Given the description of an element on the screen output the (x, y) to click on. 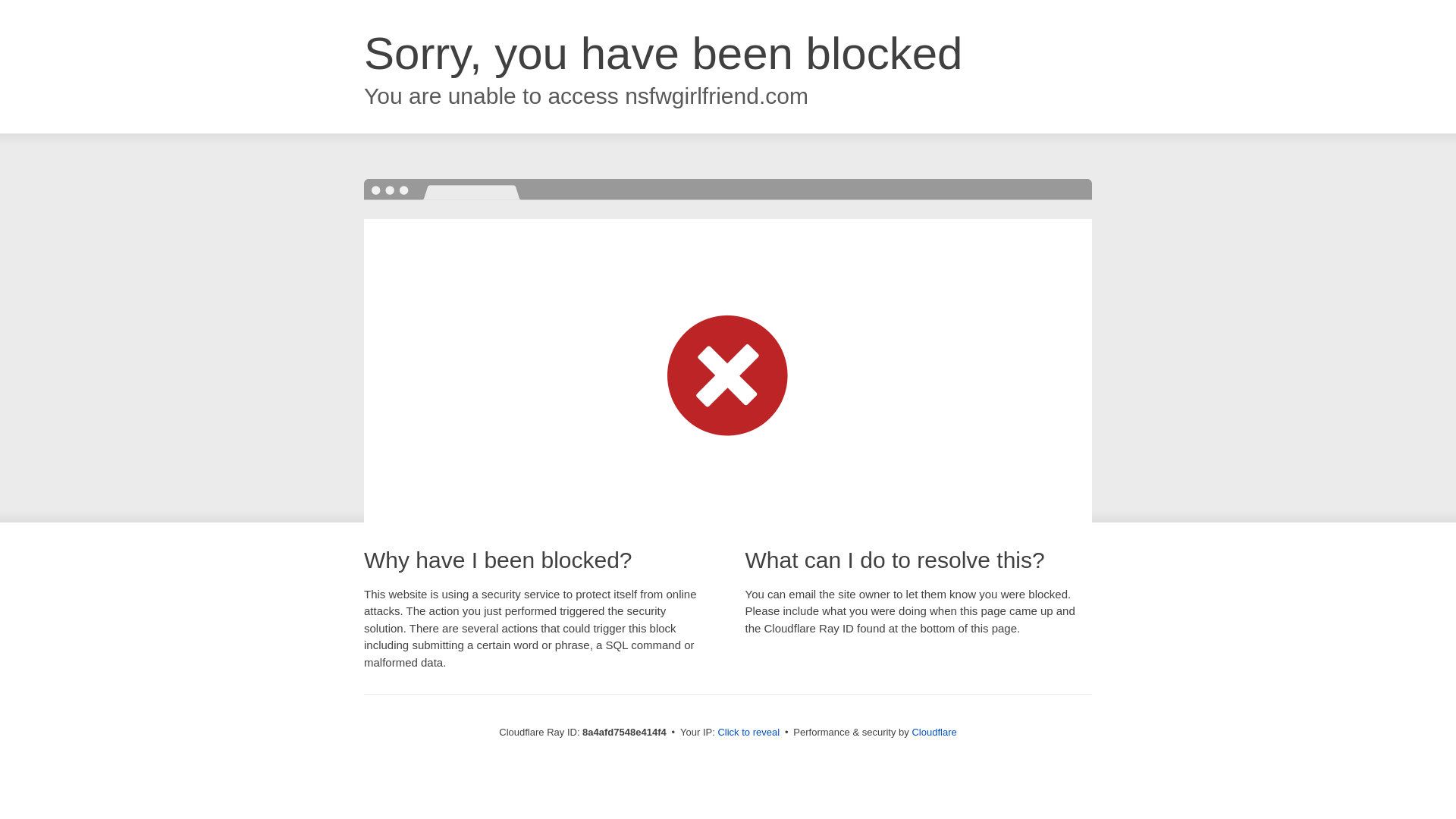
Click to reveal (747, 732)
Cloudflare (933, 731)
